Given the description of an element on the screen output the (x, y) to click on. 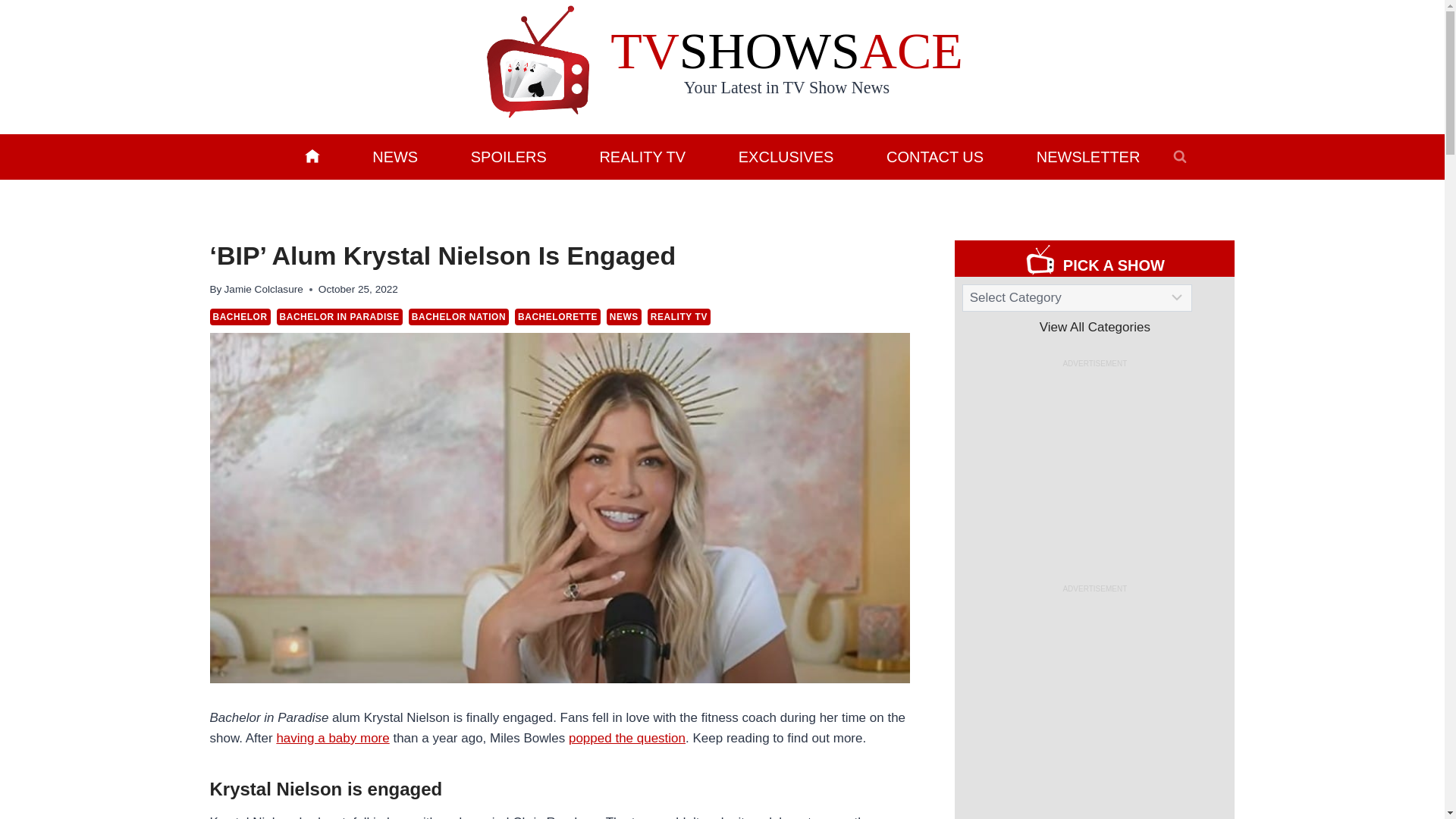
EXCLUSIVES (785, 156)
SPOILERS (508, 156)
NEWS (624, 316)
BACHELORETTE (557, 316)
REALITY TV (678, 316)
BACHELOR (239, 316)
BACHELOR IN PARADISE (339, 316)
CONTACT US (935, 156)
REALITY TV (642, 156)
NEWS (395, 156)
